Given the description of an element on the screen output the (x, y) to click on. 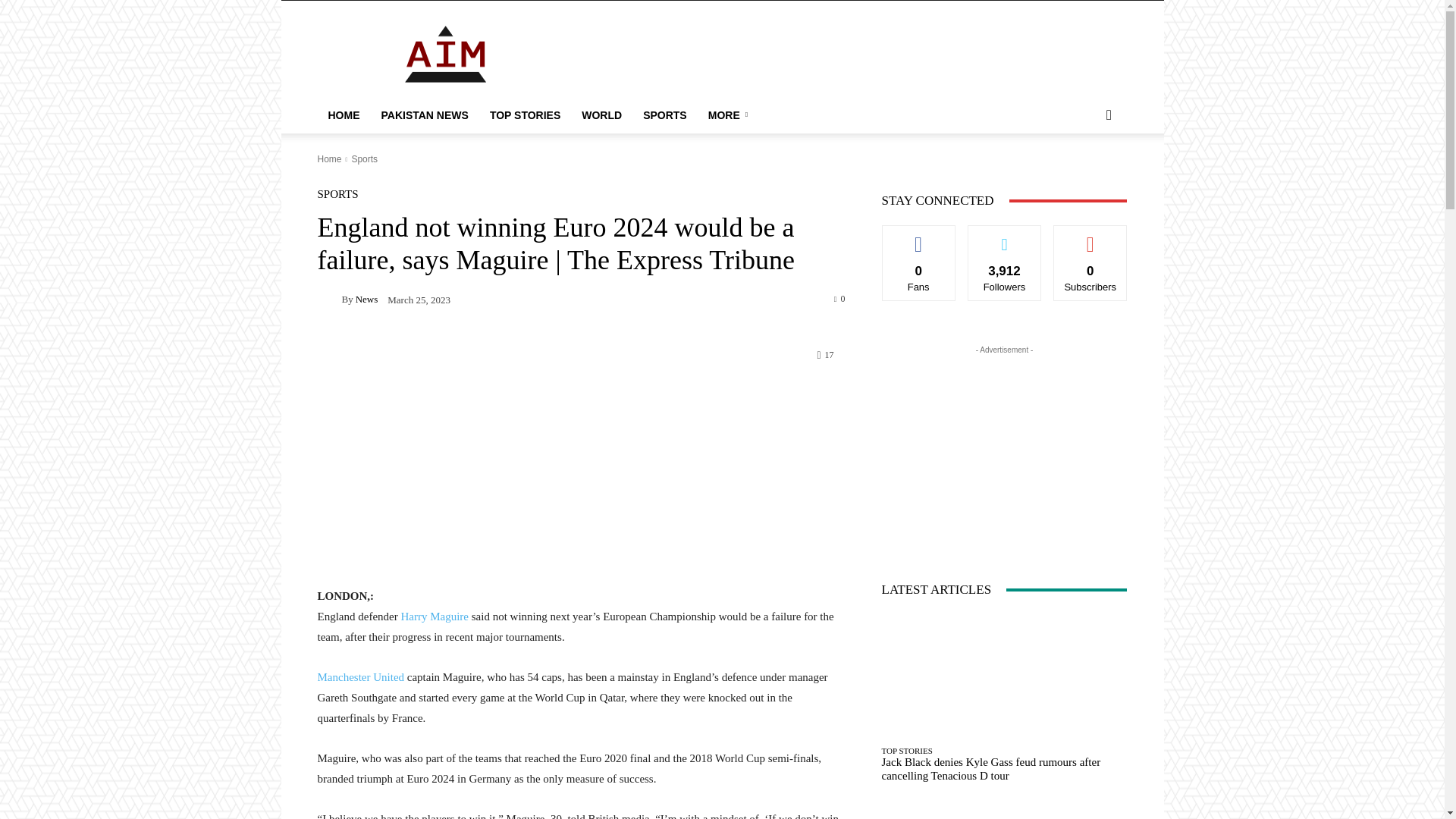
HOME (343, 115)
Home (328, 158)
SPORTS (664, 115)
News (366, 298)
PAKISTAN NEWS (424, 115)
Harry Maguire (432, 616)
Sports (363, 158)
View all posts in Sports (363, 158)
Manchester United (360, 676)
MORE (729, 115)
